Given the description of an element on the screen output the (x, y) to click on. 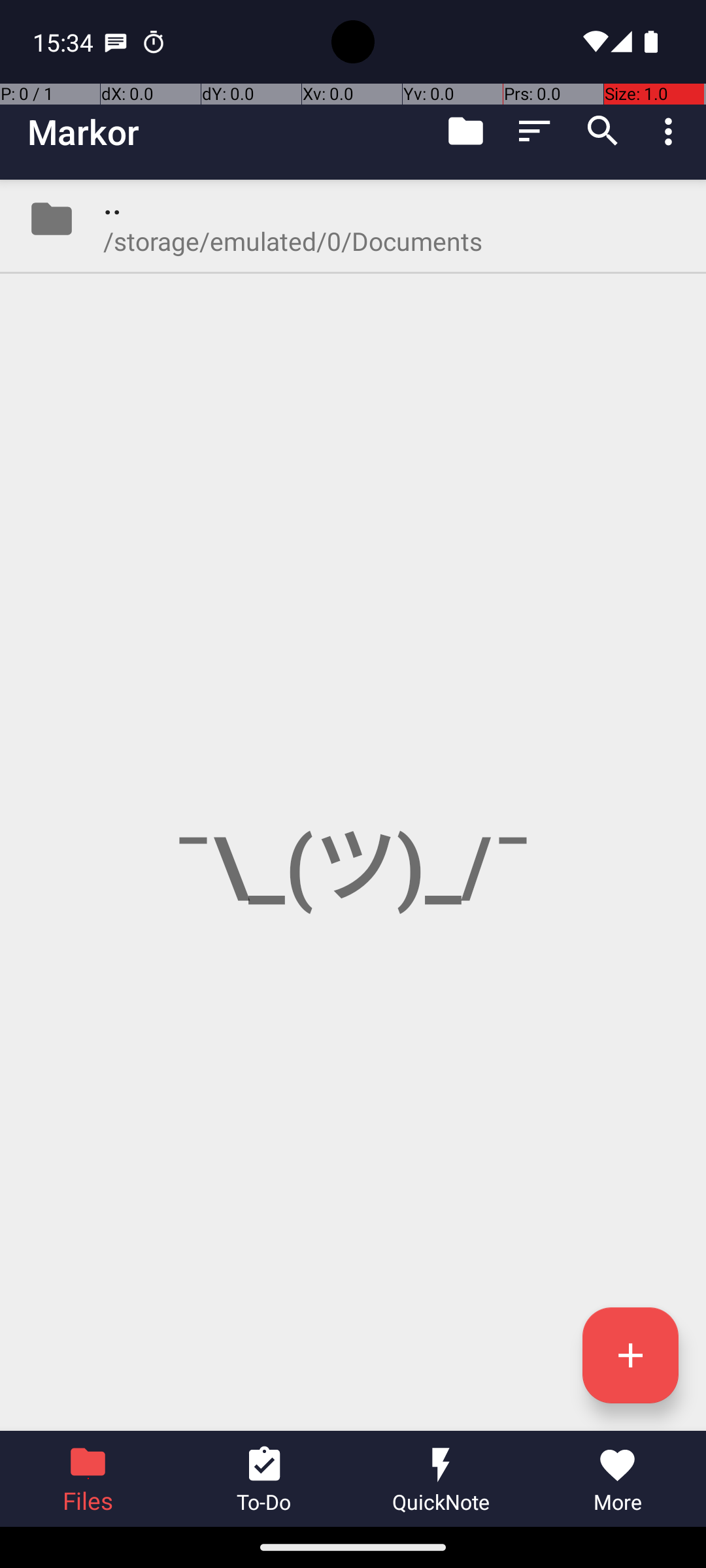
SMS Messenger notification: Emily Ibrahim Element type: android.widget.ImageView (115, 41)
